Given the description of an element on the screen output the (x, y) to click on. 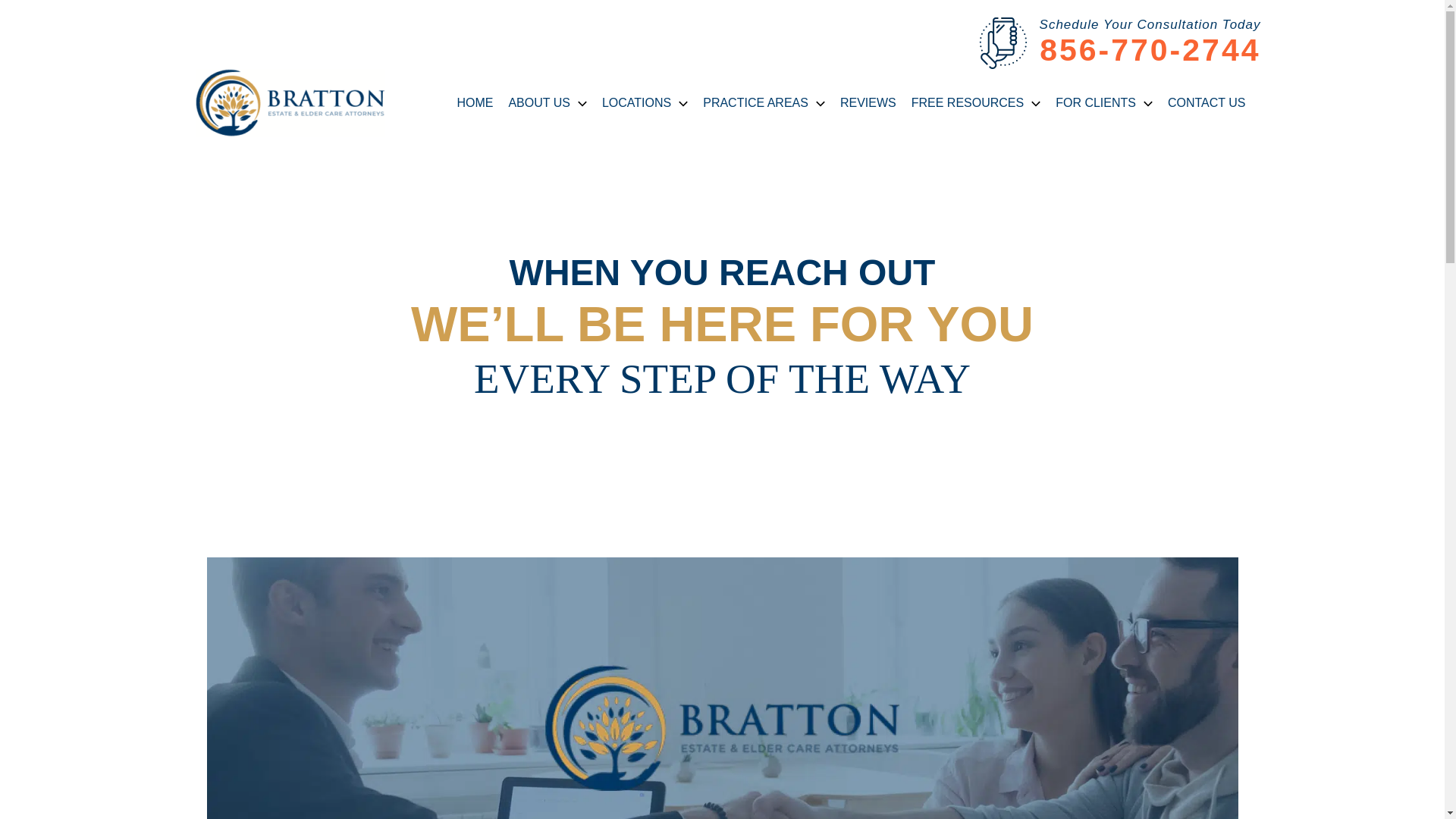
856-770-2744 (1149, 50)
LOCATIONS (644, 102)
PRACTICE AREAS (763, 102)
HOME (474, 102)
ABOUT US (547, 102)
